Given the description of an element on the screen output the (x, y) to click on. 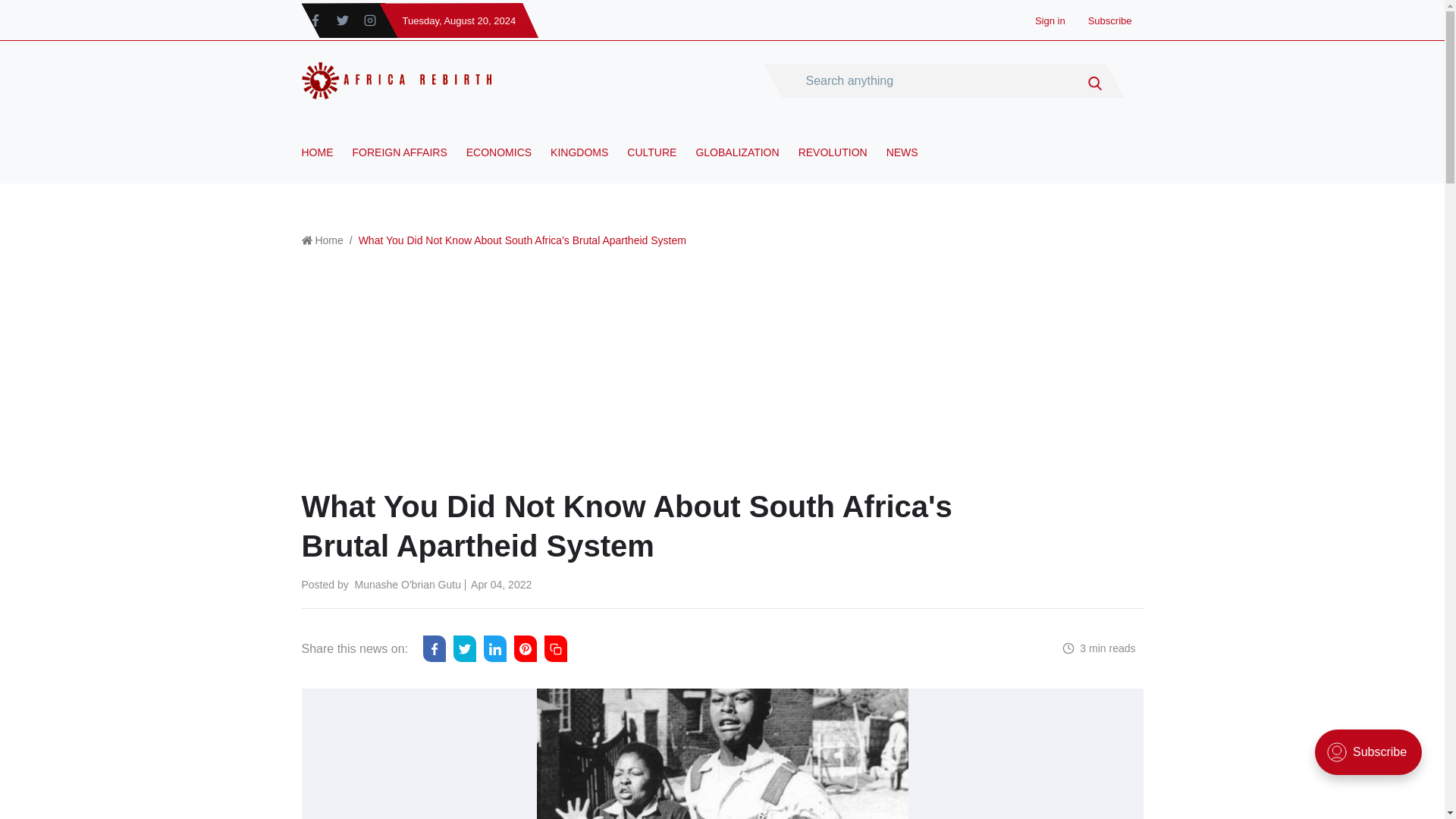
GLOBALIZATION (736, 164)
CULTURE (652, 164)
Subscribe (1109, 20)
FOREIGN AFFAIRS (399, 164)
Home (328, 240)
Munashe O'brian Gutu (408, 584)
KINGDOMS (579, 164)
Sign in (1050, 20)
REVOLUTION (832, 164)
